Given the description of an element on the screen output the (x, y) to click on. 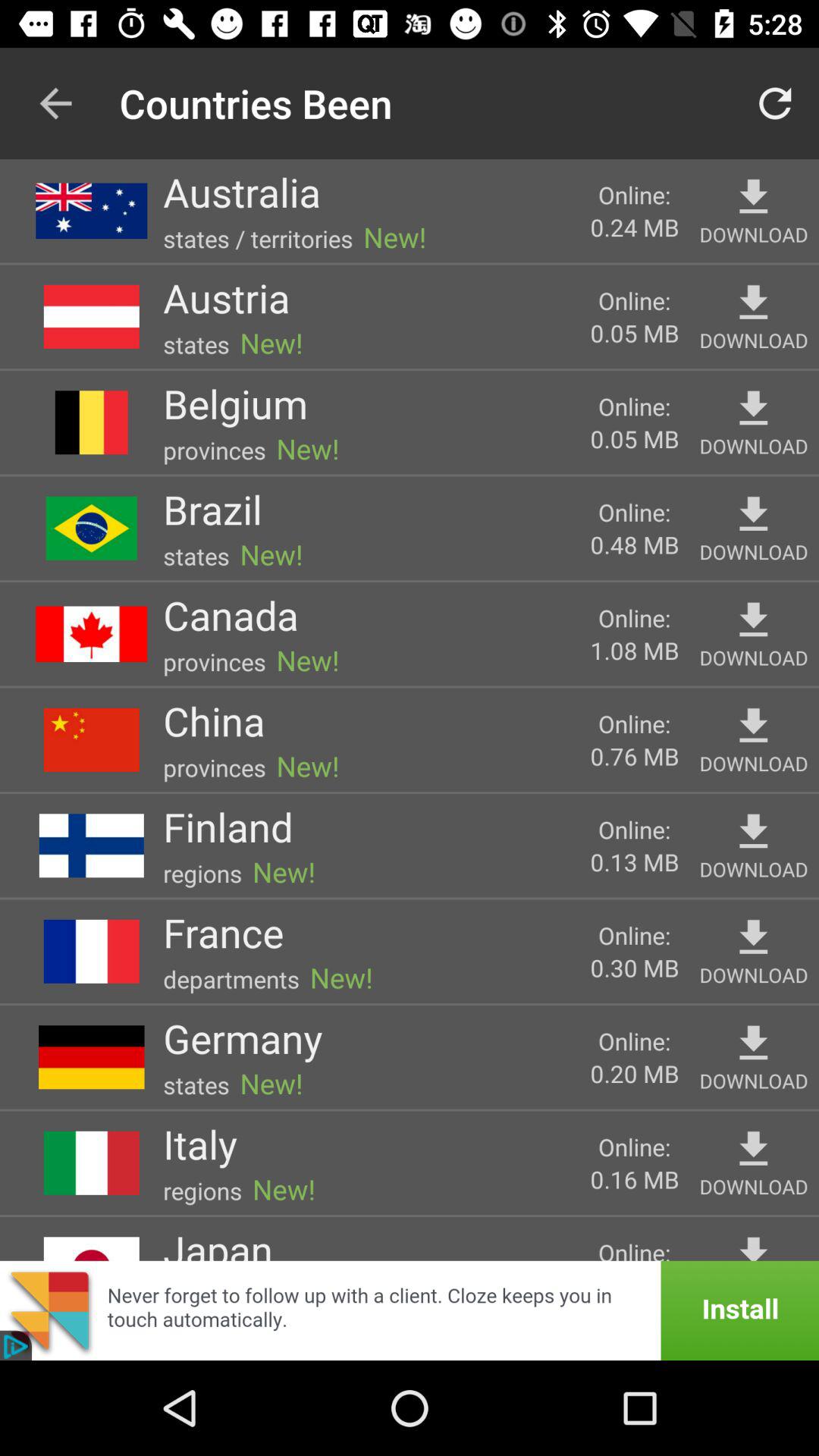
he can activate the simple voice command (753, 1149)
